Given the description of an element on the screen output the (x, y) to click on. 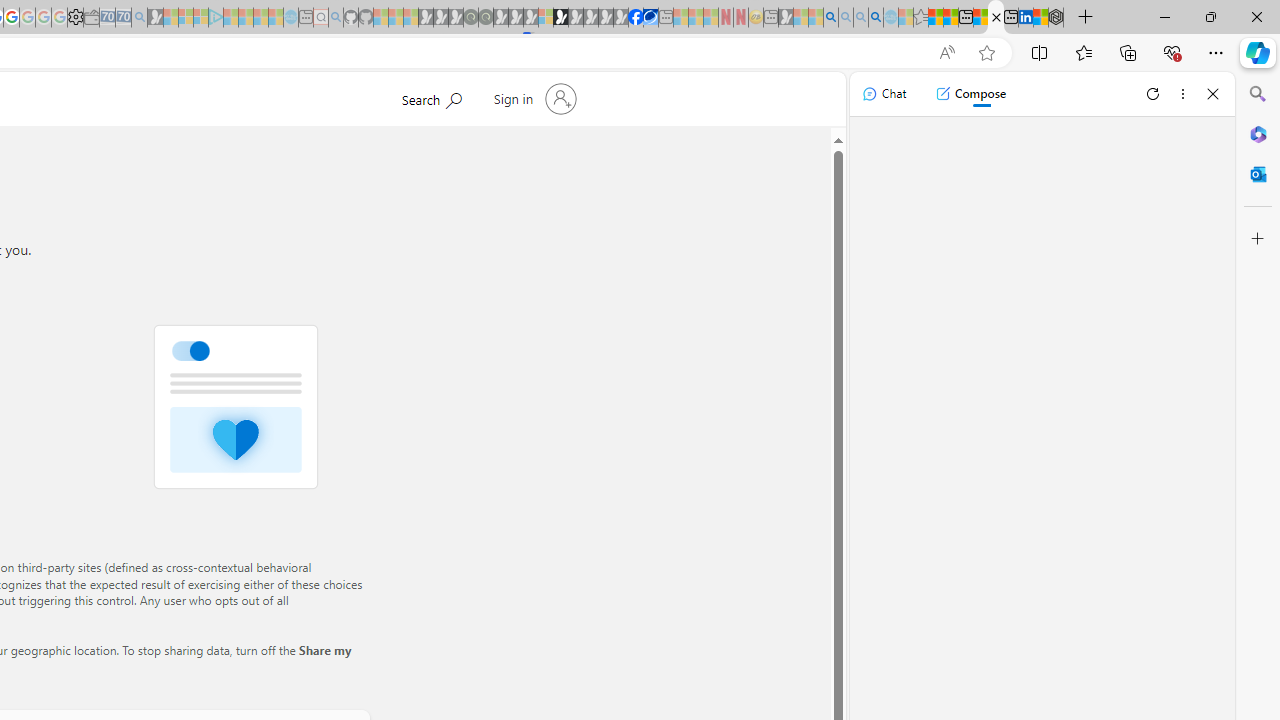
Bing AI - Search (831, 17)
Nordace | Facebook (635, 17)
AQI & Health | AirNow.gov (650, 17)
